Given the description of an element on the screen output the (x, y) to click on. 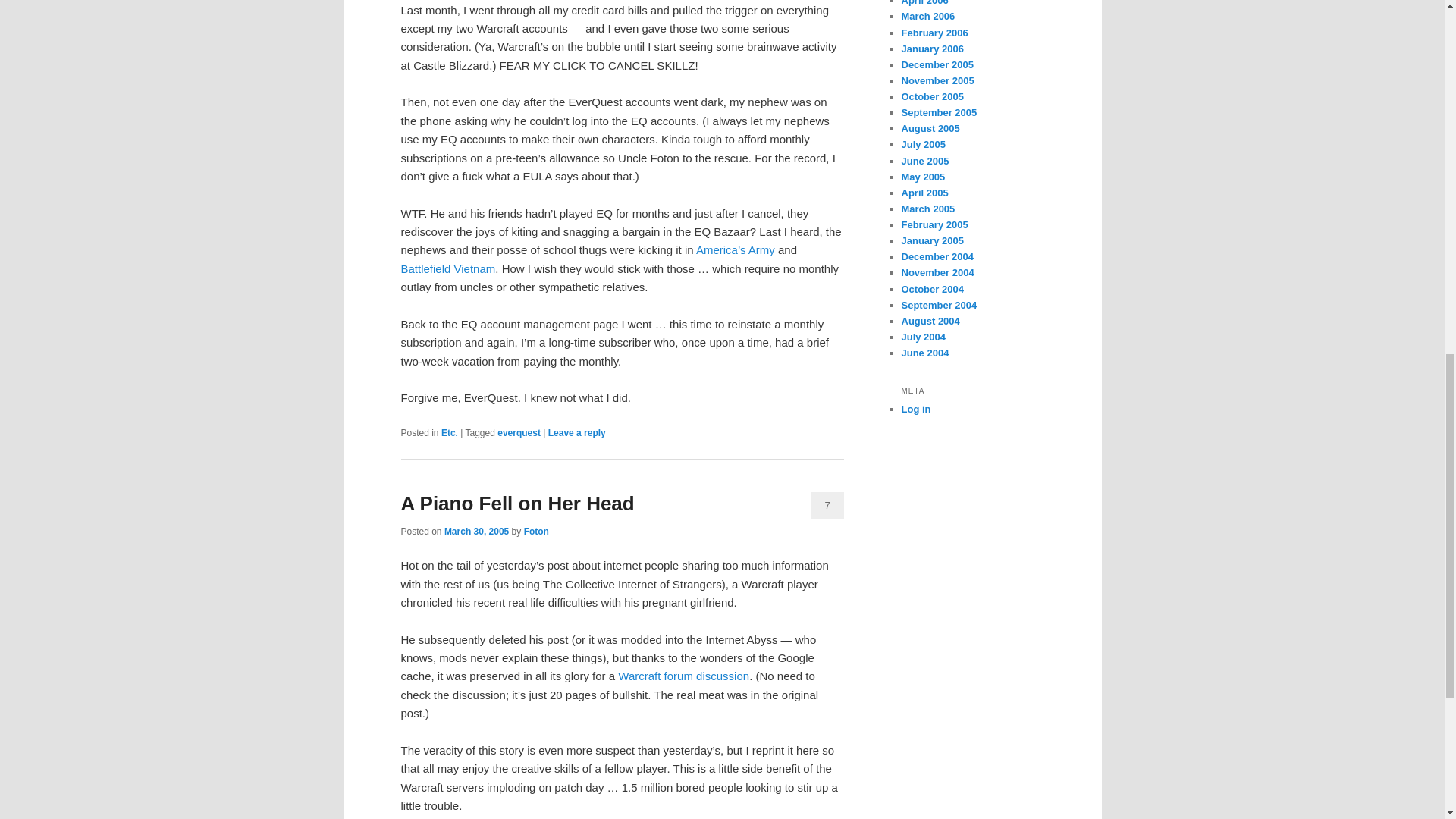
Etc. (449, 432)
March 30, 2005 (476, 531)
Battlefield Vietnam (447, 268)
everquest (518, 432)
6:54 am (476, 531)
Warcraft forum discussion (683, 675)
A Piano Fell on Her Head (516, 503)
Foton (536, 531)
7 (827, 505)
View all posts by Foton (536, 531)
